Given the description of an element on the screen output the (x, y) to click on. 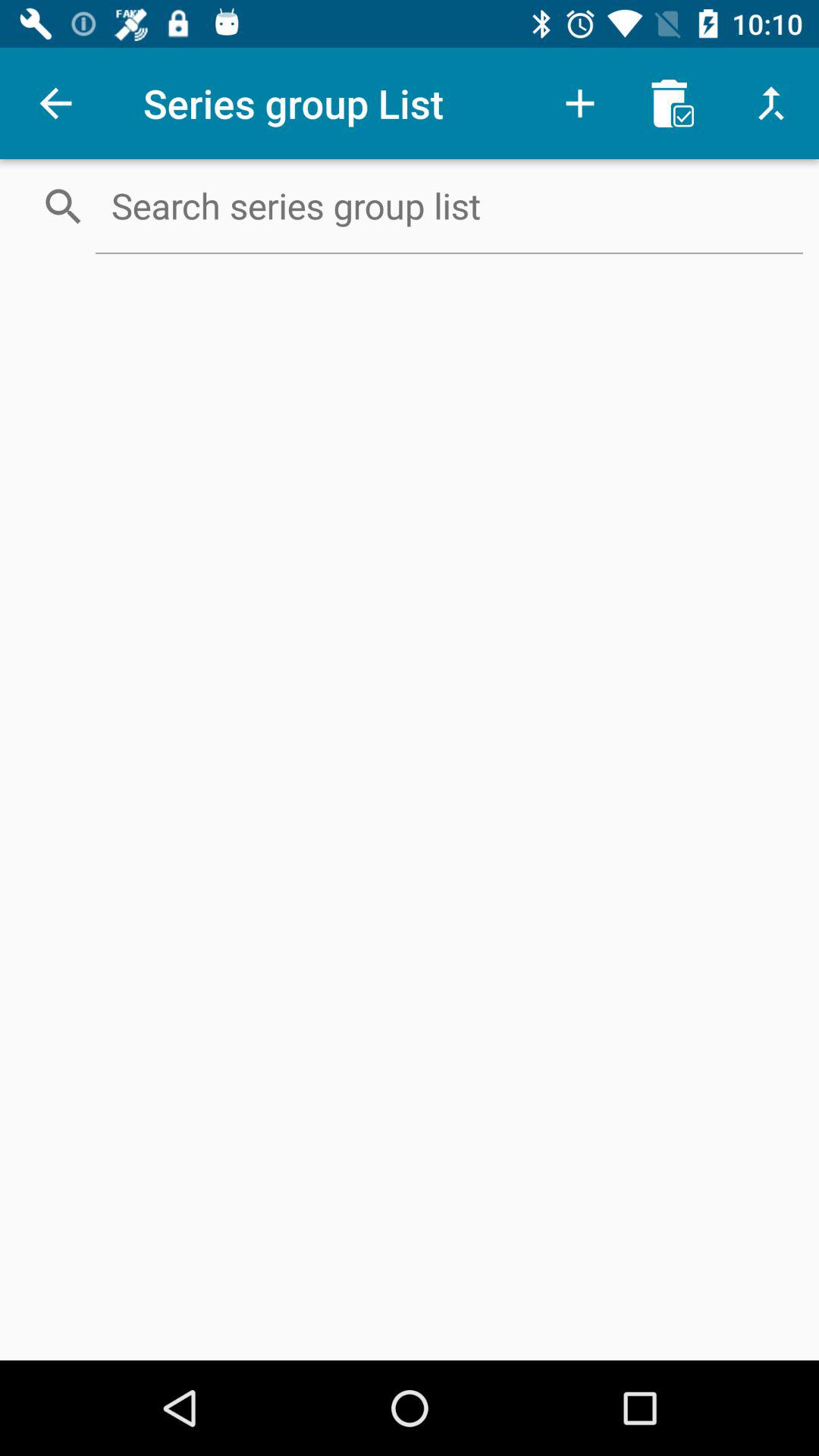
search list (449, 205)
